Given the description of an element on the screen output the (x, y) to click on. 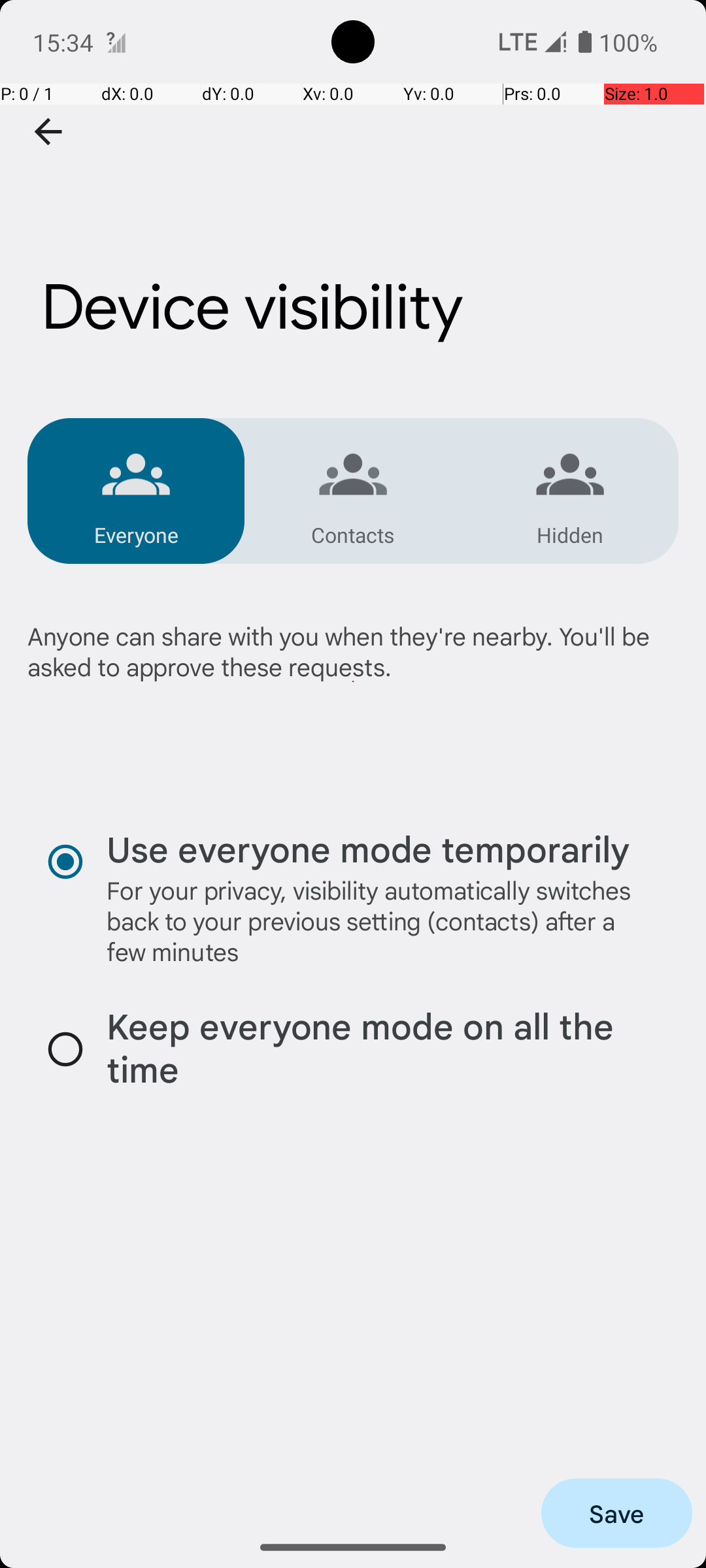
Everyone Element type: android.widget.TextView (135, 534)
Hidden Element type: android.widget.TextView (569, 534)
Anyone can share with you when they're nearby. You'll be asked to approve these requests.

 Element type: android.widget.TextView (353, 681)
Use everyone mode temporarily Element type: android.widget.TextView (367, 847)
For your privacy, visibility automatically switches back to your previous setting (contacts) after a few minutes Element type: android.widget.TextView (380, 920)
Keep everyone mode on all the time Element type: android.widget.TextView (380, 1049)
